Given the description of an element on the screen output the (x, y) to click on. 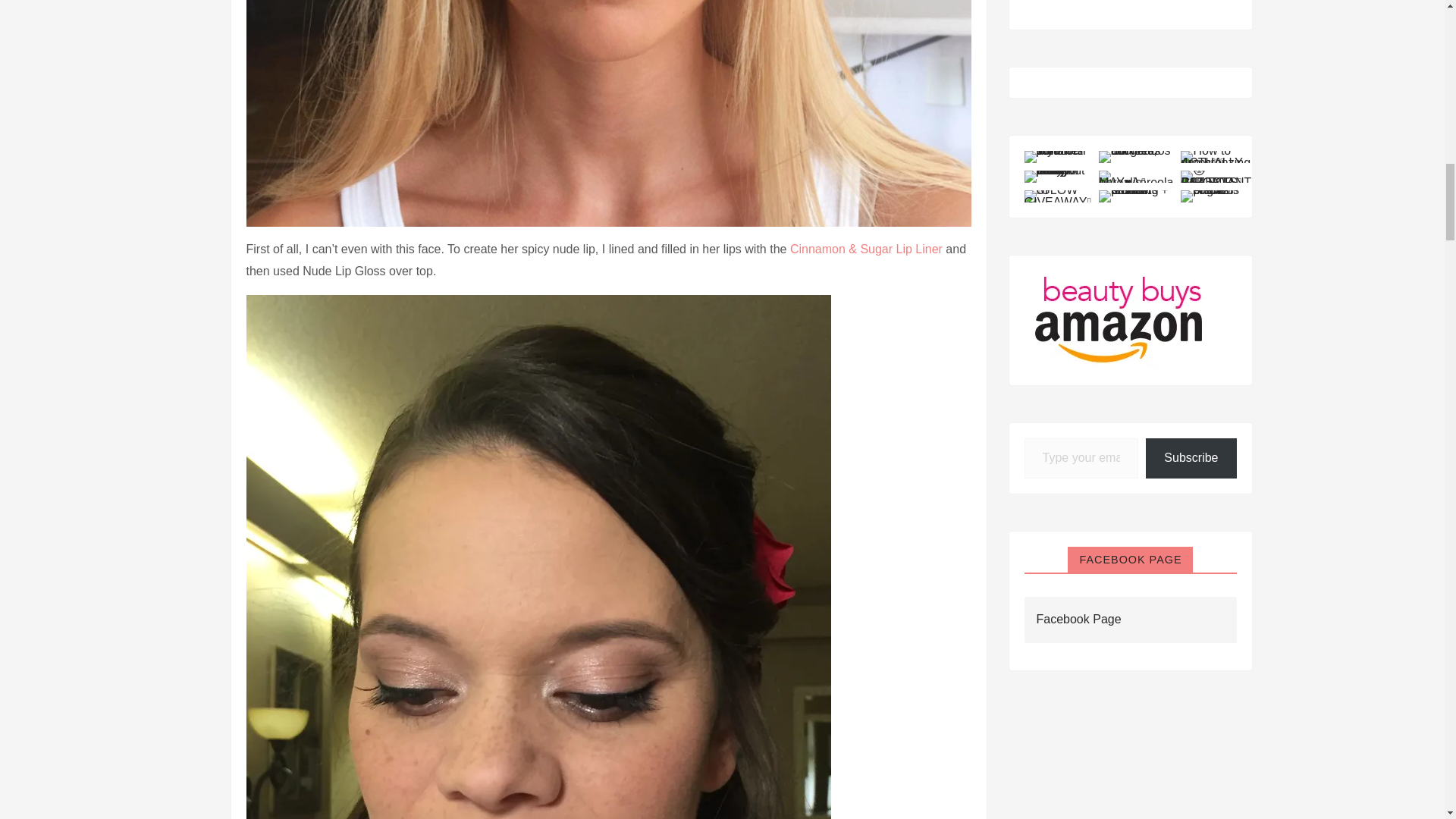
Please fill in this field. (1080, 458)
